Given the description of an element on the screen output the (x, y) to click on. 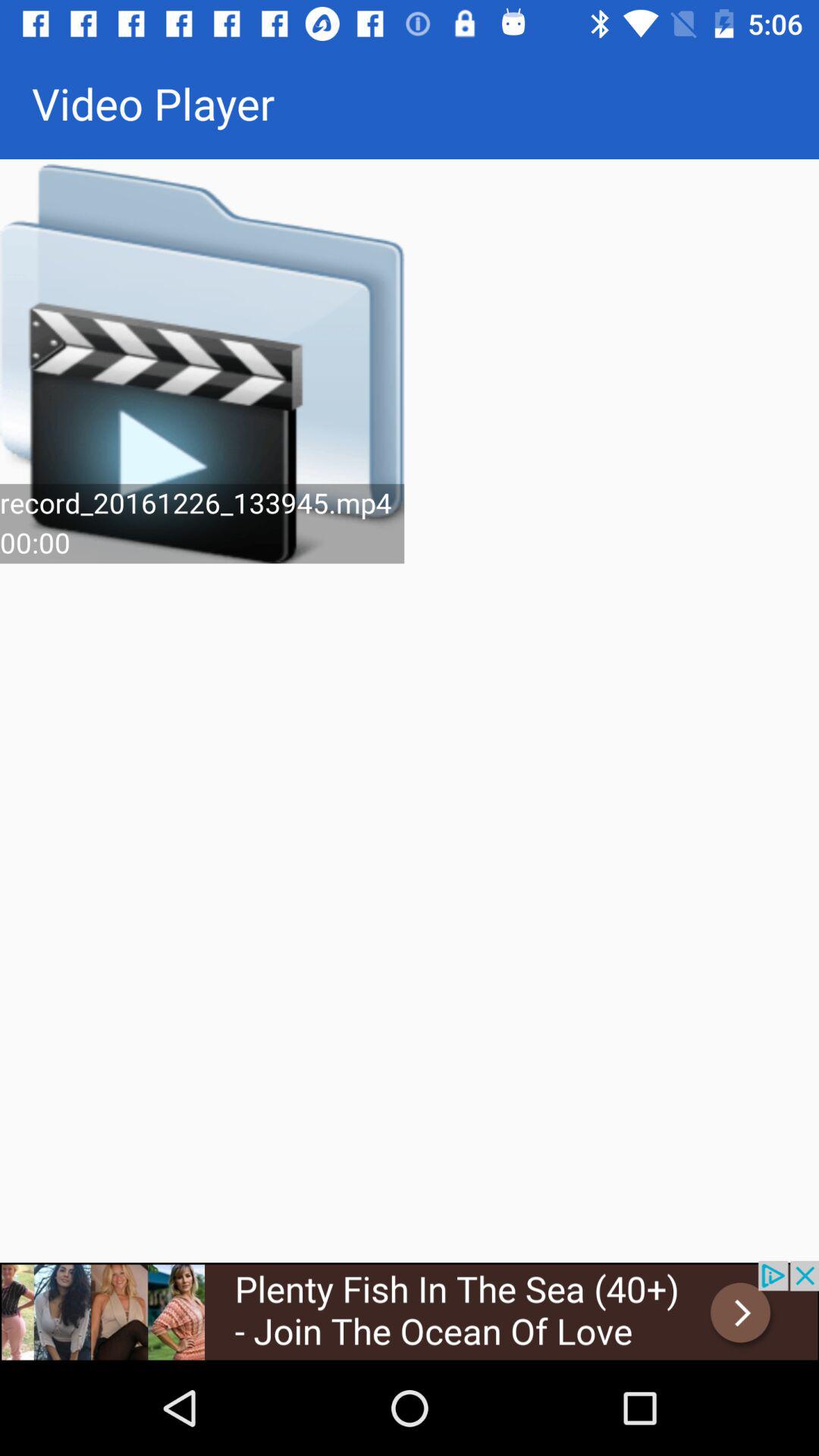
go to the advertised site (409, 1310)
